Given the description of an element on the screen output the (x, y) to click on. 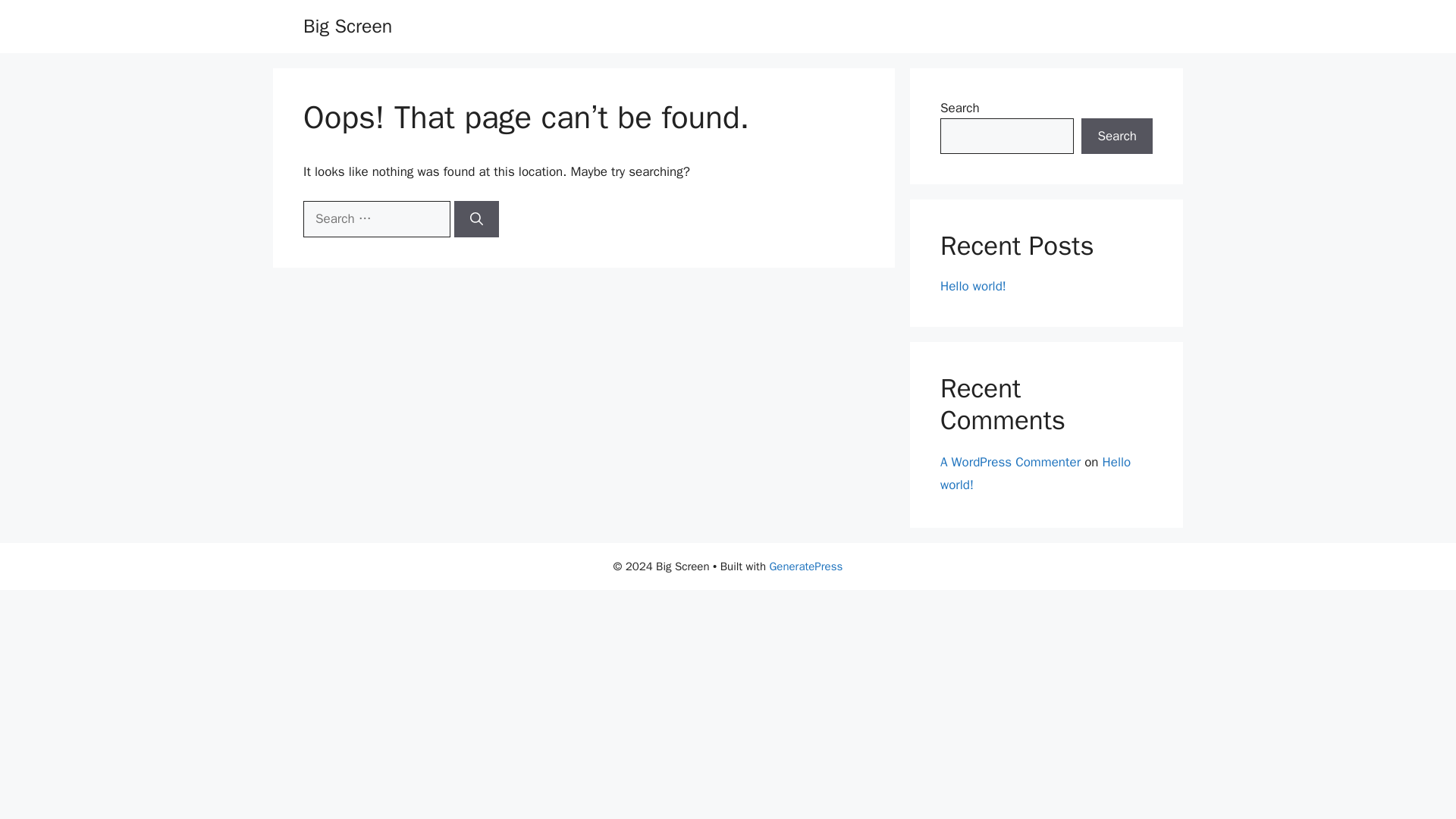
GeneratePress (805, 566)
A WordPress Commenter (1010, 461)
Search for: (375, 218)
Search (1117, 135)
Hello world! (1035, 473)
Hello world! (973, 286)
Big Screen (346, 25)
